Given the description of an element on the screen output the (x, y) to click on. 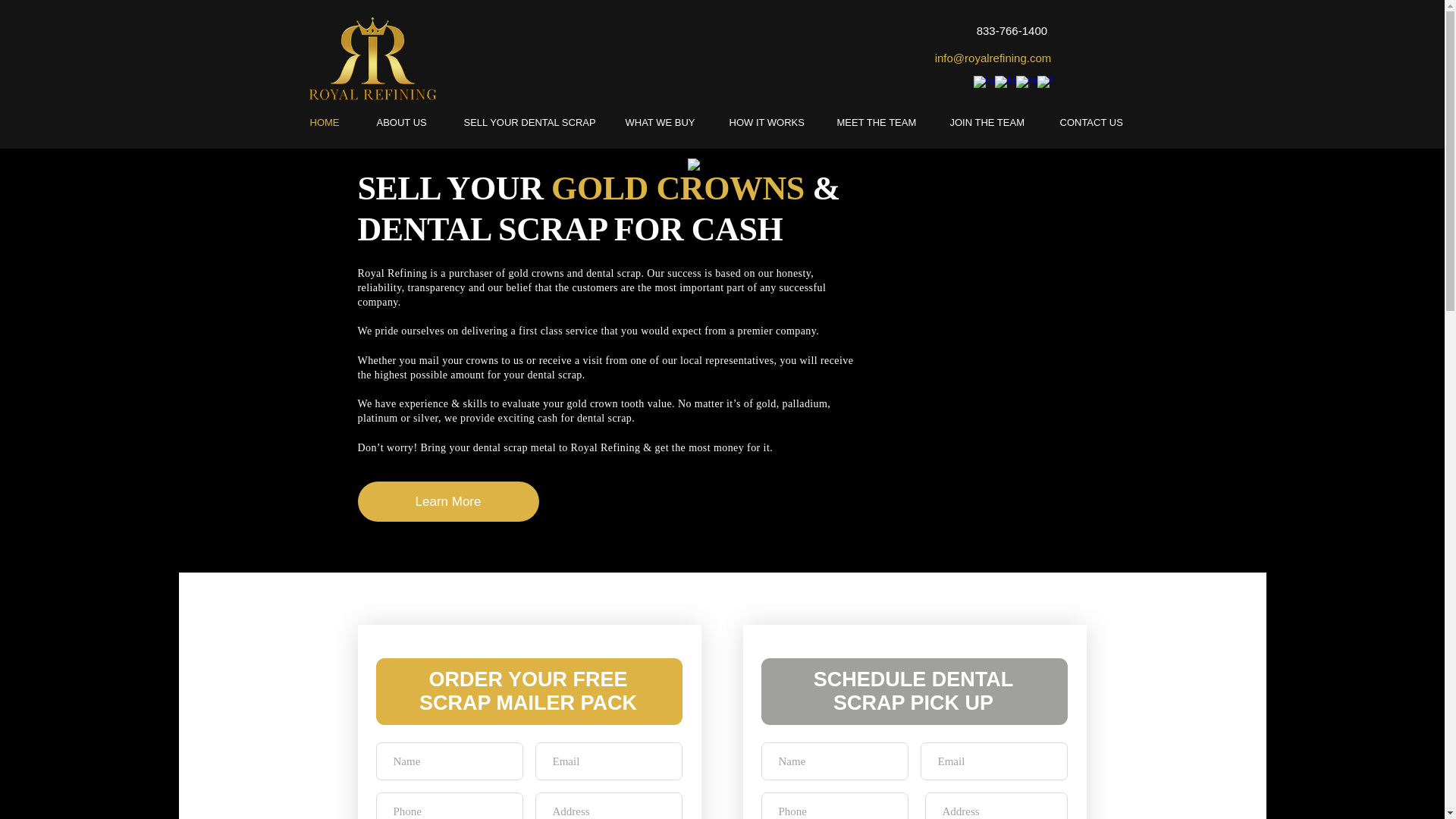
HOME (331, 122)
MEET THE TEAM (881, 122)
JOIN THE TEAM (993, 122)
ABOUT US (408, 122)
Learn More (448, 501)
SELL YOUR DENTAL SCRAP (531, 122)
CONTACT US (1097, 122)
WHAT WE BUY (665, 122)
HOW IT WORKS (771, 122)
